Given the description of an element on the screen output the (x, y) to click on. 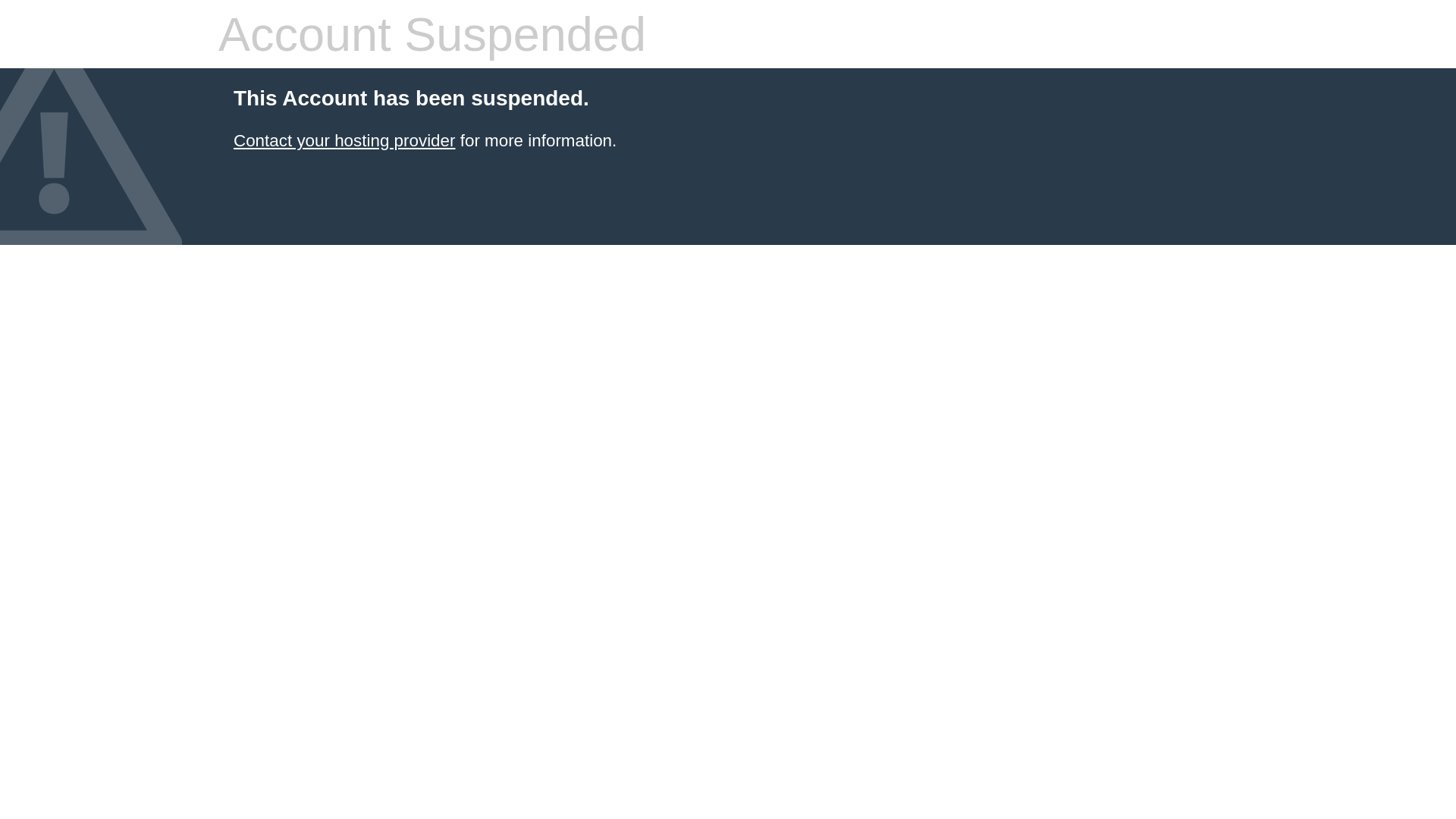
Contact your hosting provider Element type: text (344, 140)
